Given the description of an element on the screen output the (x, y) to click on. 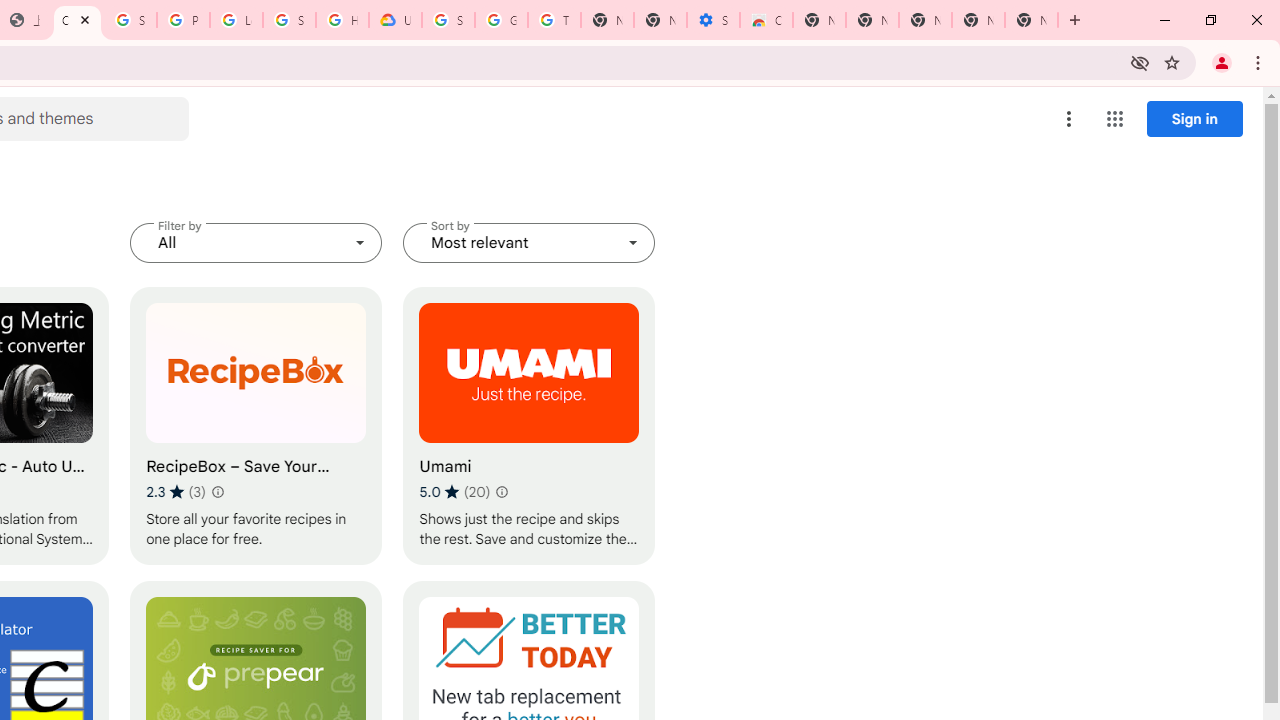
Chrome Web Store - Accessibility extensions (766, 20)
Chrome Web Store - Household (77, 20)
Umami (529, 426)
Google Account Help (501, 20)
Filter by All (256, 242)
More options menu (1069, 118)
Learn more about results and reviews "Umami" (502, 491)
Sign in - Google Accounts (130, 20)
Sign in - Google Accounts (448, 20)
